Given the description of an element on the screen output the (x, y) to click on. 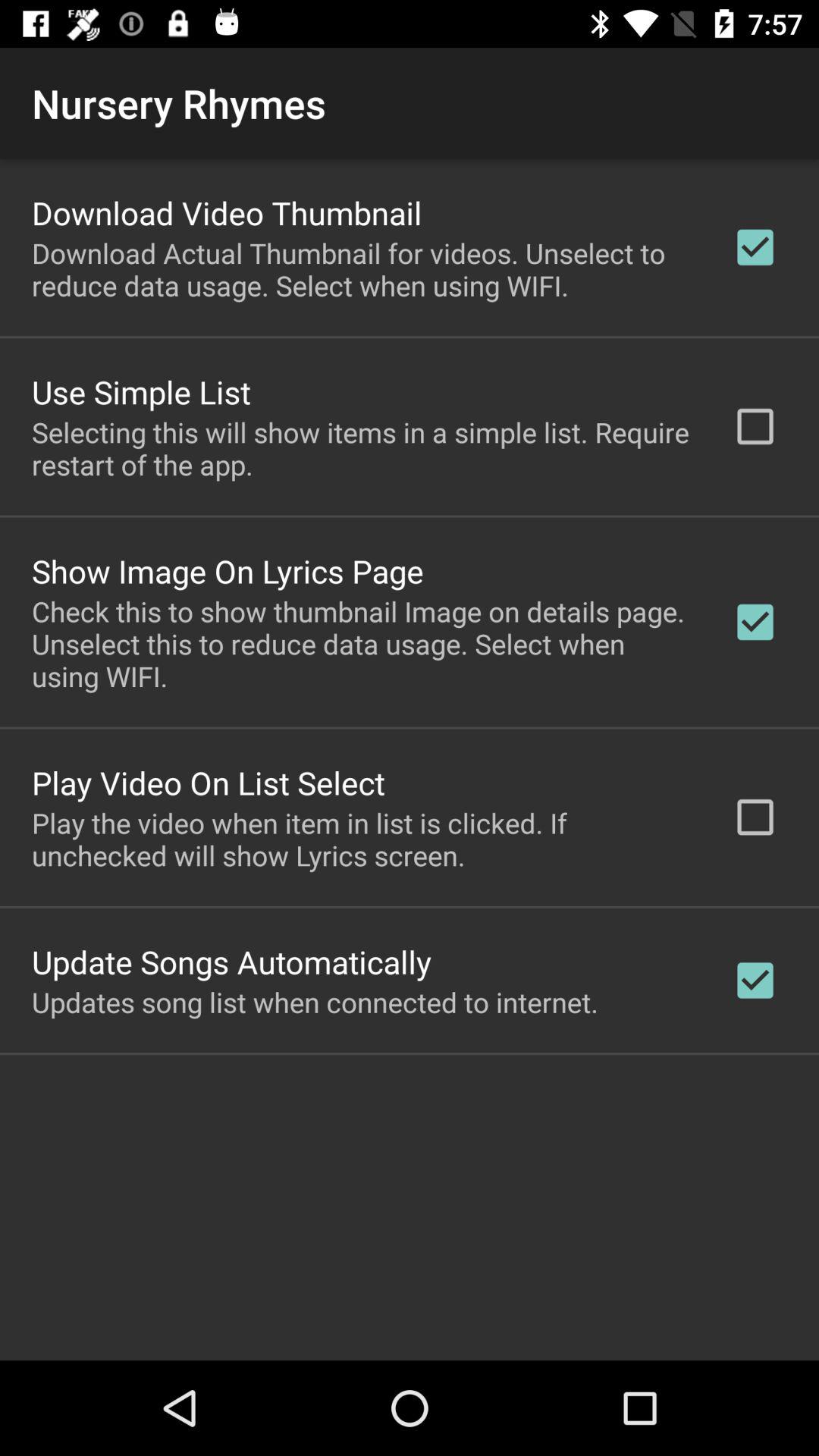
select item above show image on (361, 448)
